Given the description of an element on the screen output the (x, y) to click on. 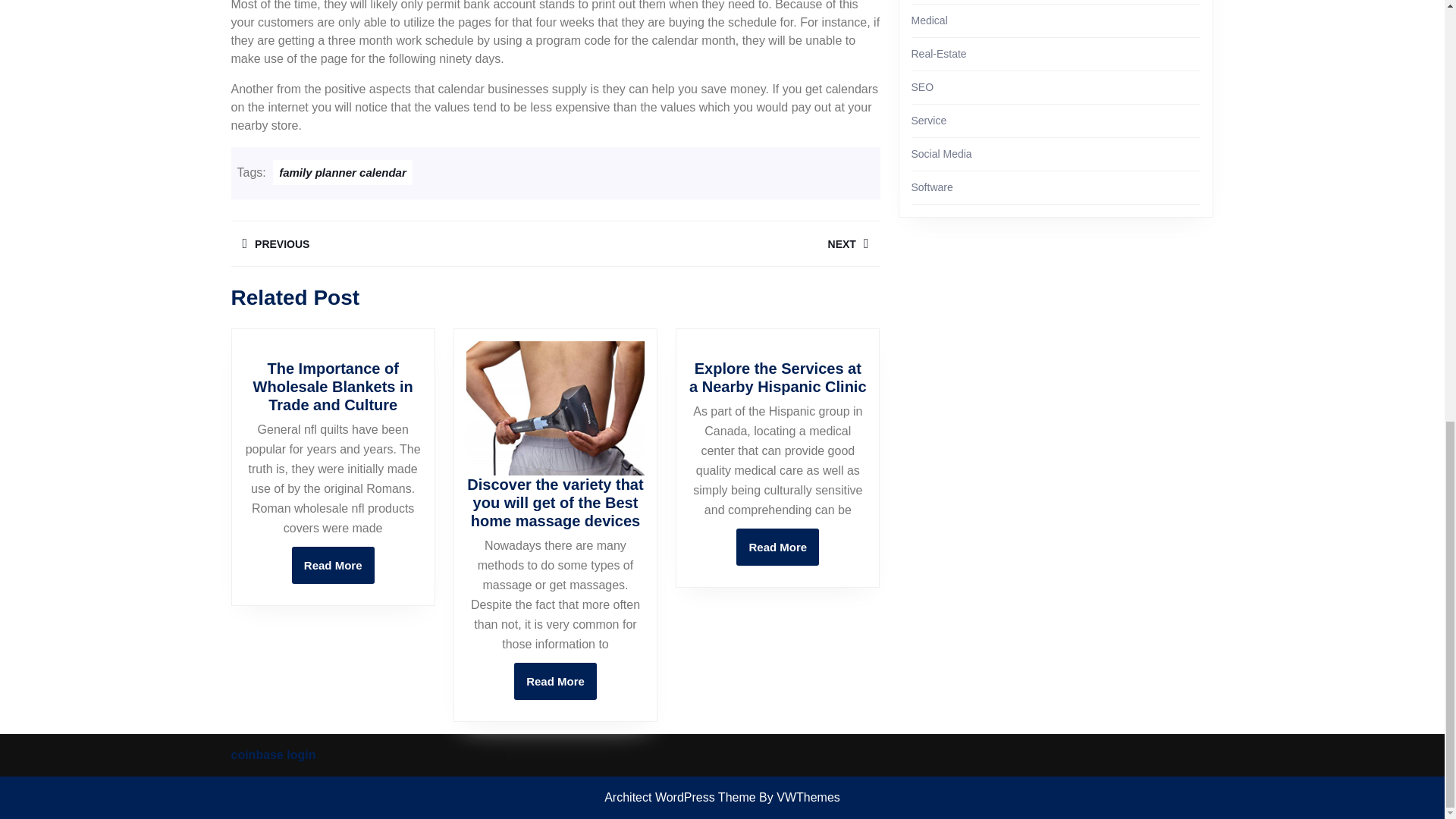
Medical (554, 681)
family planner calendar (392, 243)
